Given the description of an element on the screen output the (x, y) to click on. 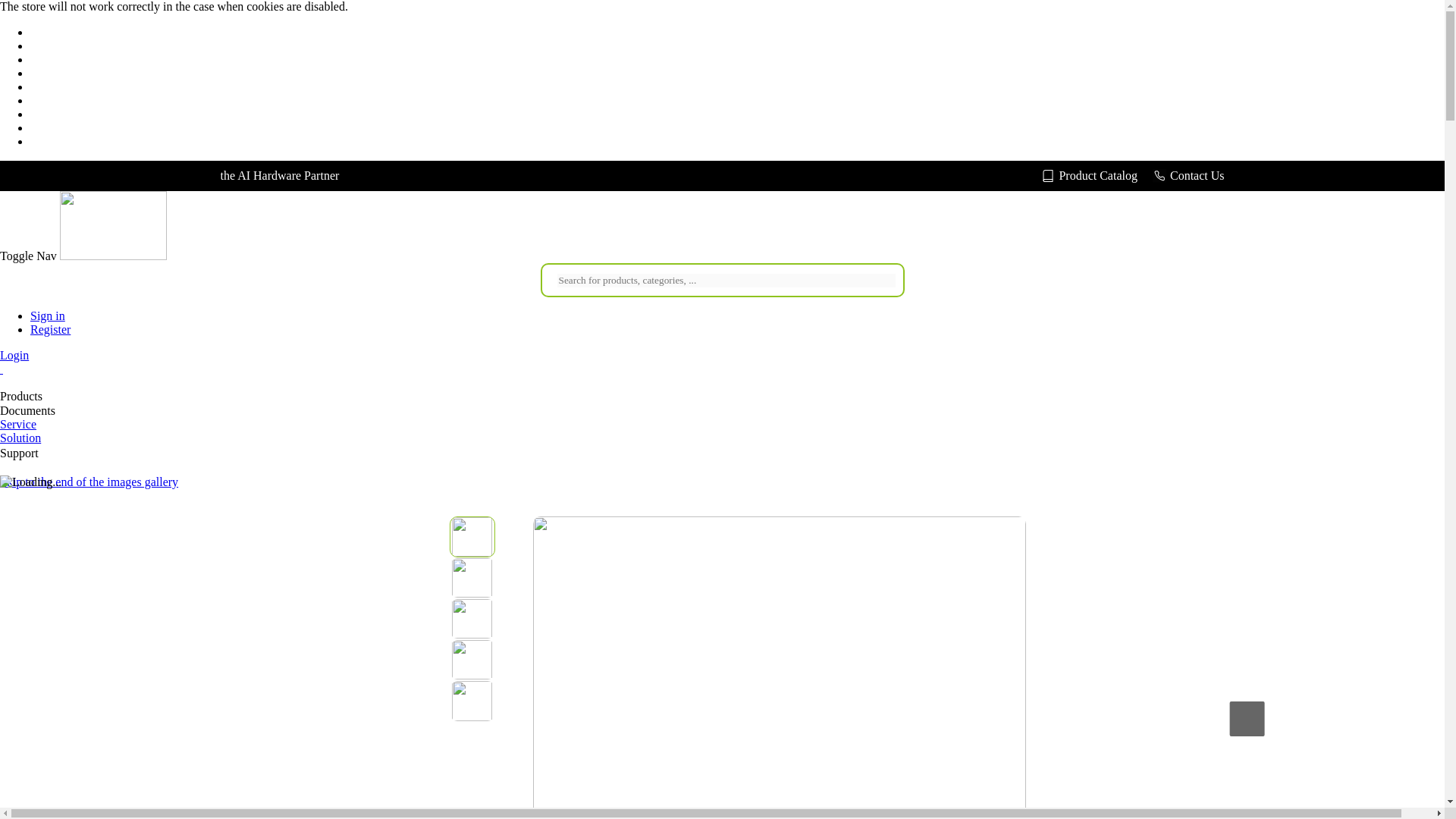
Solution (20, 437)
Service (18, 423)
Product Catalog (1089, 175)
Sign in (47, 315)
Skip to the end of the images gallery (88, 481)
Contact Us (1188, 175)
Register (49, 328)
Login (14, 354)
